Given the description of an element on the screen output the (x, y) to click on. 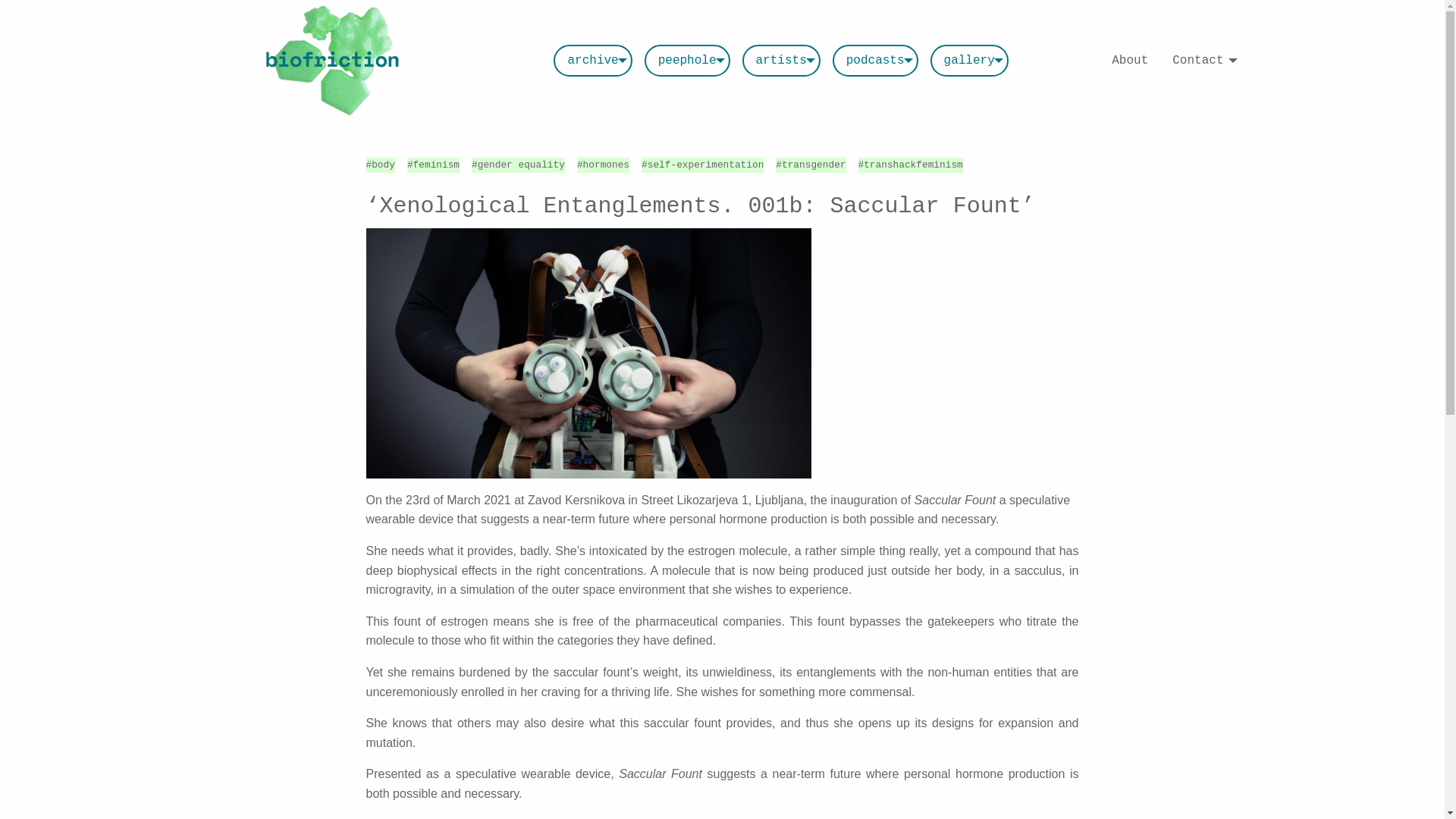
About (1129, 60)
Contact (1200, 60)
body (382, 164)
archive (592, 60)
hormones (605, 164)
transgender (813, 164)
artists (781, 60)
transhackfeminism (912, 164)
podcasts (875, 60)
gender equality (520, 164)
feminism (436, 164)
gallery (969, 60)
self-experimentation (705, 164)
peephole (687, 60)
